Given the description of an element on the screen output the (x, y) to click on. 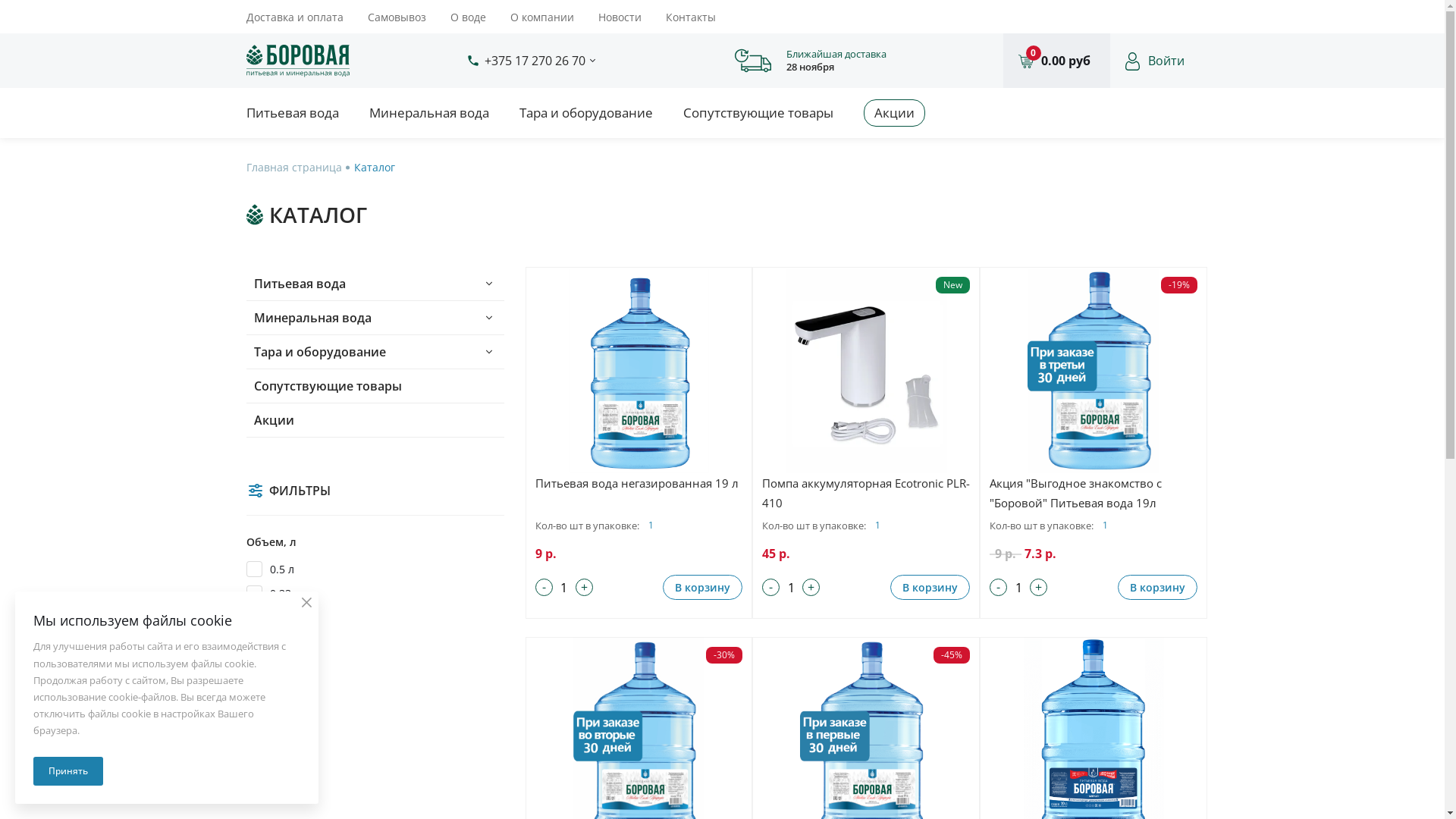
- Element type: text (998, 587)
- Element type: text (770, 587)
+ Element type: text (810, 587)
+ Element type: text (1038, 587)
- Element type: text (543, 587)
+ Element type: text (583, 587)
+375 17 270 26 70 Element type: text (534, 60)
